Given the description of an element on the screen output the (x, y) to click on. 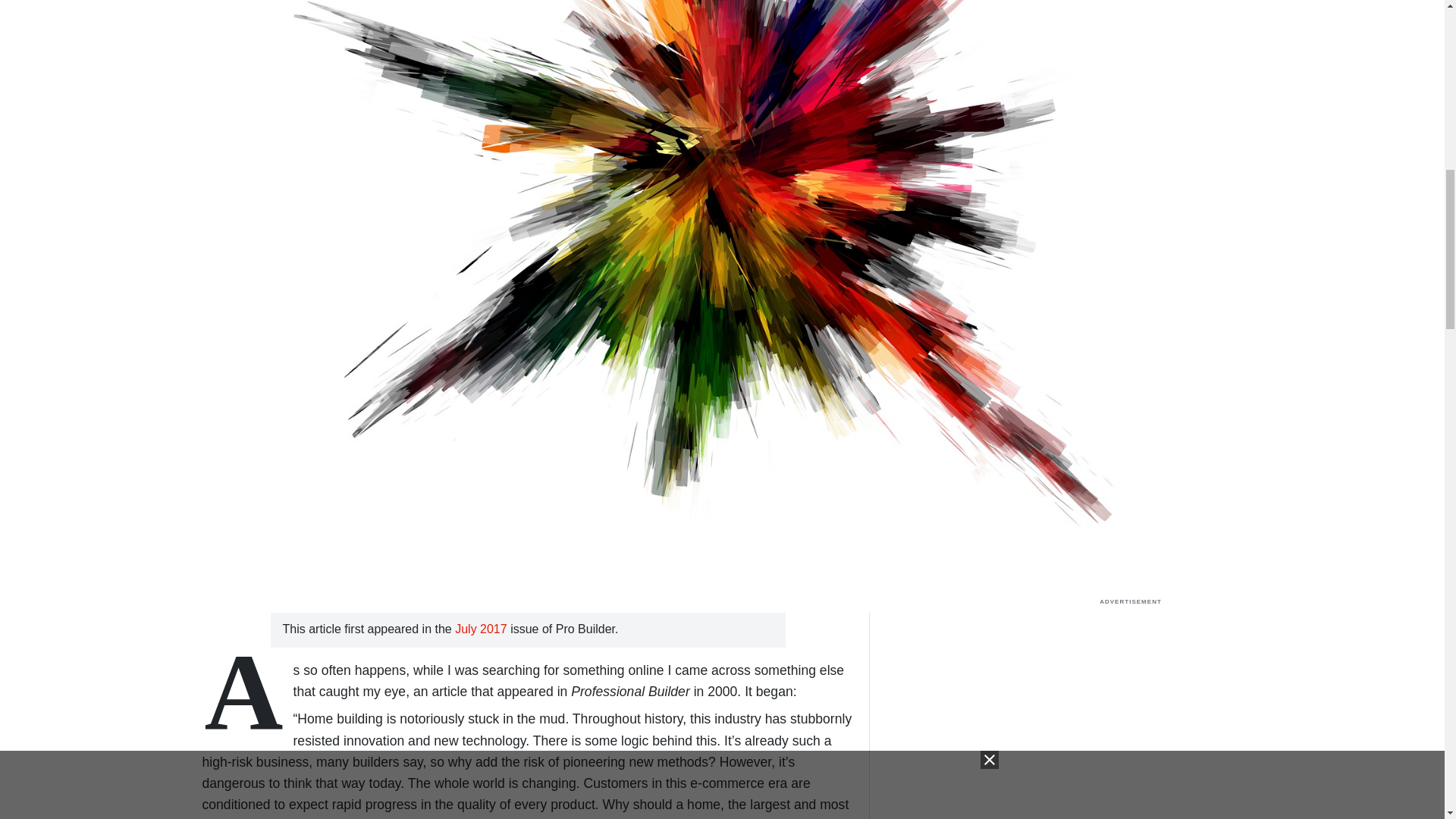
July 2017 (482, 628)
true (1130, 708)
